Given the description of an element on the screen output the (x, y) to click on. 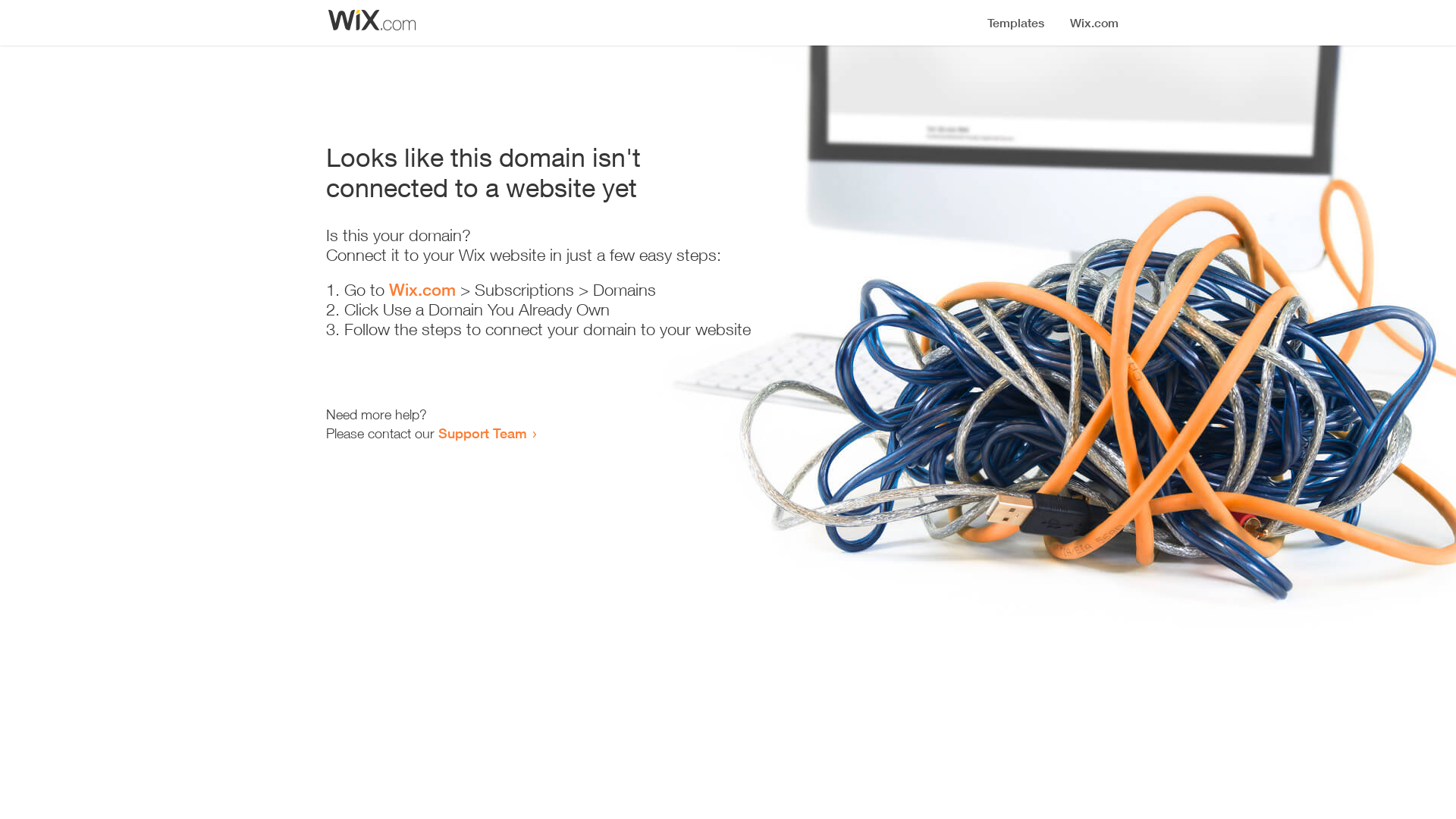
Wix.com Element type: text (422, 289)
Support Team Element type: text (482, 432)
